Given the description of an element on the screen output the (x, y) to click on. 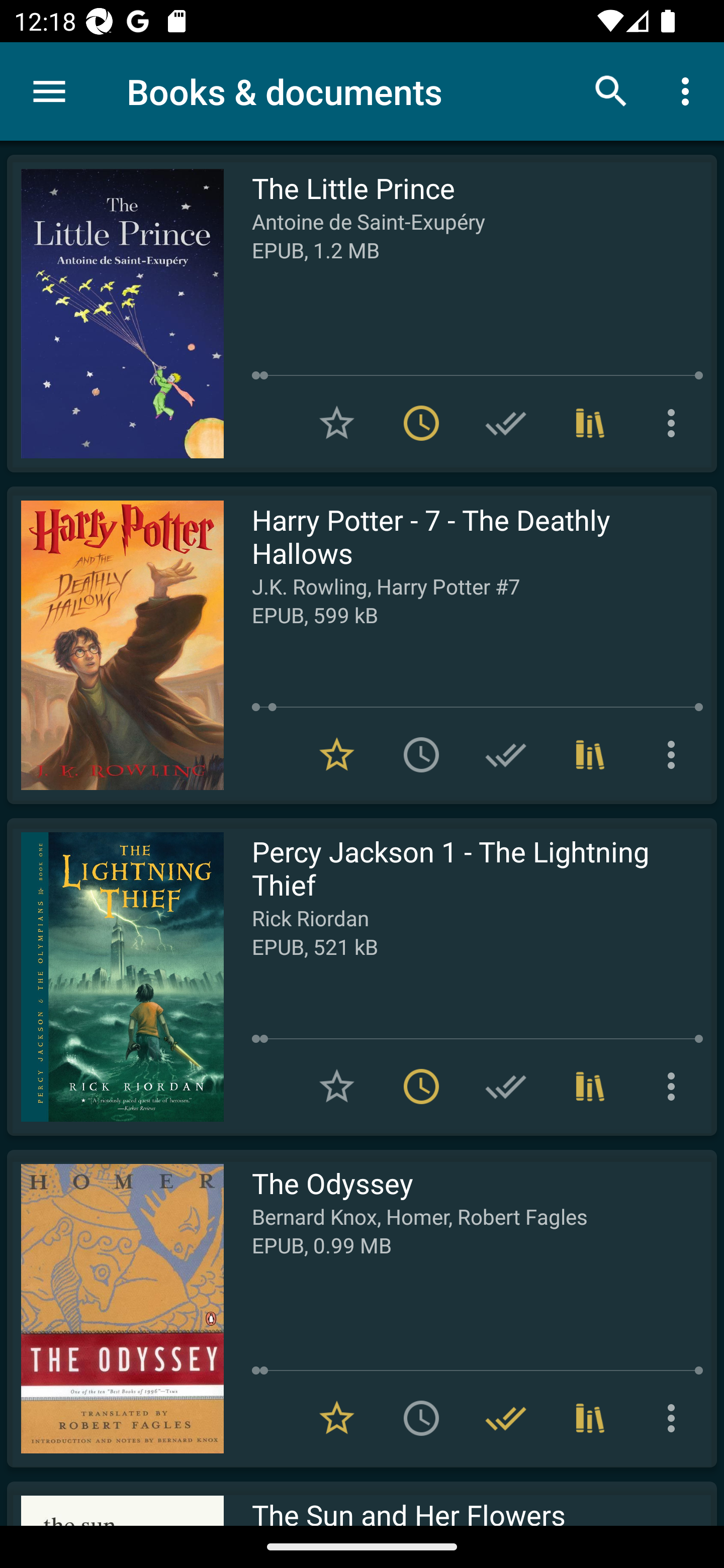
Menu (49, 91)
Search books & documents (611, 90)
More options (688, 90)
Read The Little Prince (115, 313)
Add to Favorites (336, 423)
Remove from To read (421, 423)
Add to Have read (505, 423)
Collections (1) (590, 423)
More options (674, 423)
Read Harry Potter - 7 - The Deathly Hallows (115, 645)
Remove from Favorites (336, 753)
Add to To read (421, 753)
Add to Have read (505, 753)
Collections (1) (590, 753)
More options (674, 753)
Read Percy Jackson 1 - The Lightning Thief (115, 976)
Add to Favorites (336, 1086)
Remove from To read (421, 1086)
Add to Have read (505, 1086)
Collections (1) (590, 1086)
More options (674, 1086)
Read The Odyssey (115, 1308)
Remove from Favorites (336, 1417)
Add to To read (421, 1417)
Remove from Have read (505, 1417)
Collections (2) (590, 1417)
More options (674, 1417)
